Given the description of an element on the screen output the (x, y) to click on. 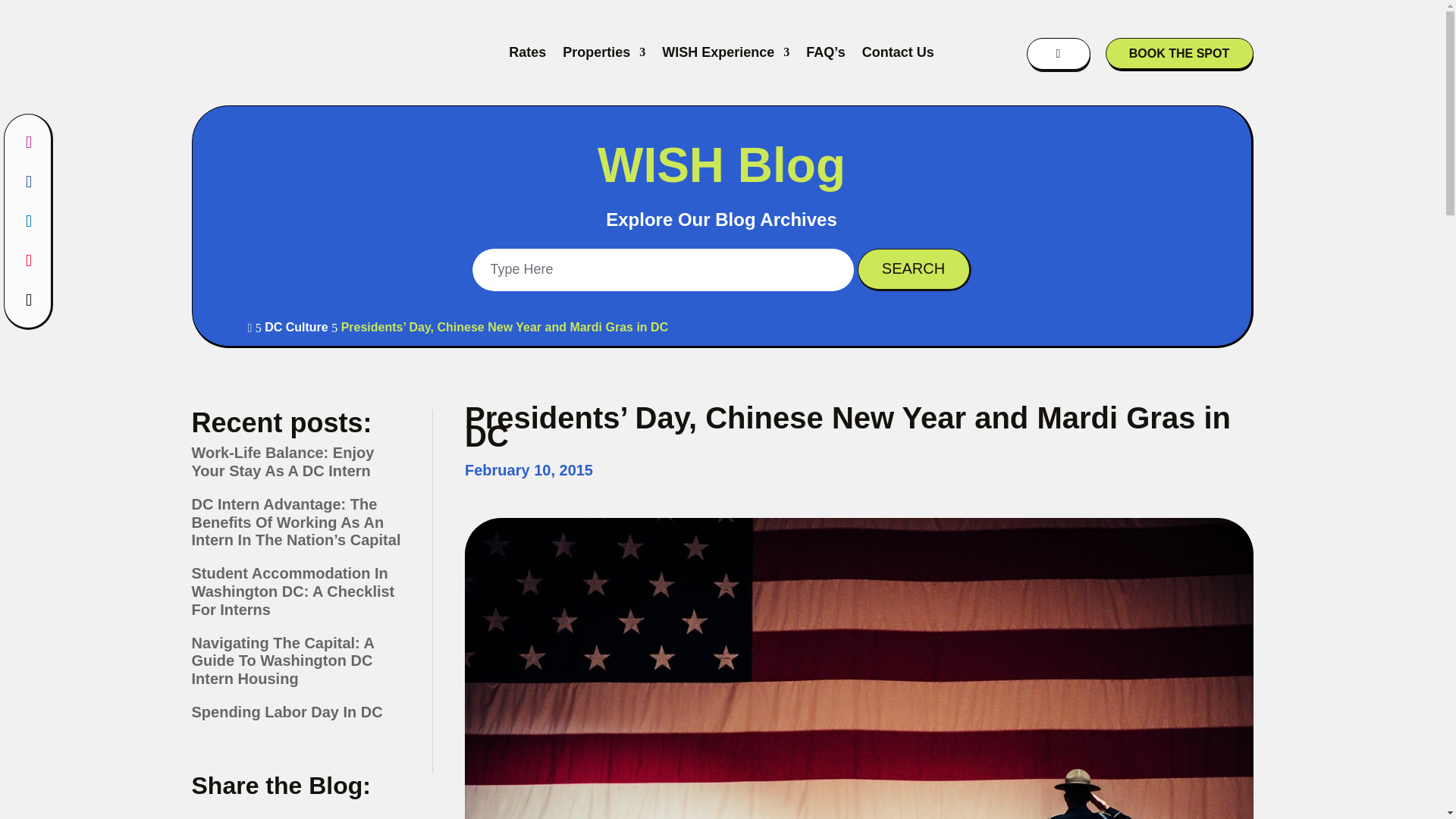
Search (914, 269)
WISH Call Us (1058, 65)
WISH Experience (725, 52)
Work-Life Balance: Enjoy Your Stay As A DC Intern (282, 461)
Spending Labor Day In DC (285, 711)
Follow on Instagram (28, 142)
Follow on X (28, 299)
DC Culture (296, 327)
